Given the description of an element on the screen output the (x, y) to click on. 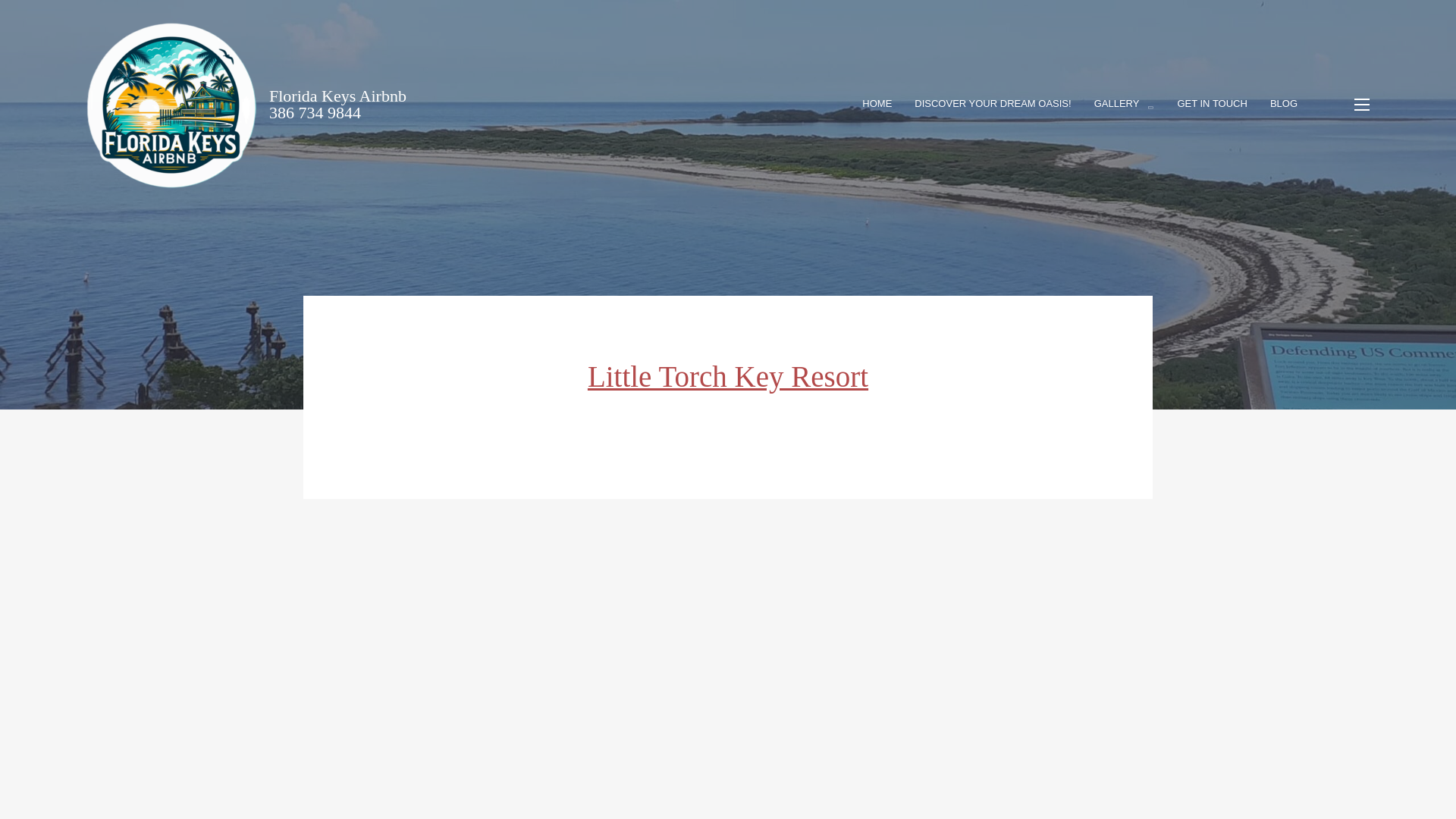
DISCOVER YOUR DREAM OASIS! (992, 104)
Little Torch Key Resort (727, 376)
386 734 9844 (315, 112)
GALLERY (1124, 104)
GET IN TOUCH (1211, 104)
Florida Keys Airbnb (337, 95)
